Given the description of an element on the screen output the (x, y) to click on. 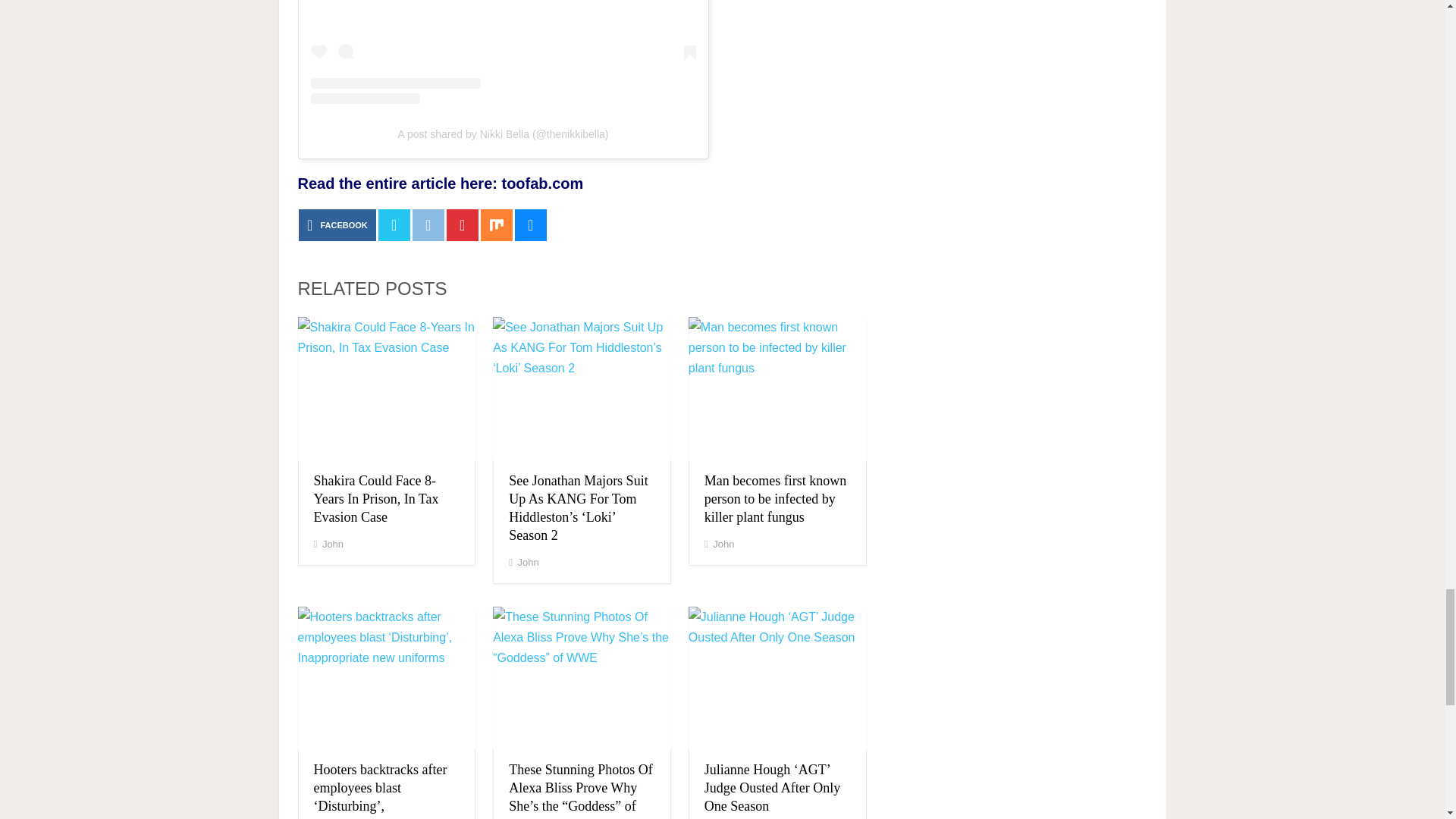
Read the entire article here: toofab.com (440, 183)
Shakira Could Face 8-Years In Prison, In Tax Evasion Case (376, 498)
John (528, 562)
FACEBOOK (336, 224)
View this post on Instagram (503, 52)
Shakira Could Face 8-Years In Prison, In Tax Evasion Case (376, 498)
John (332, 543)
Posts by John (332, 543)
